Given the description of an element on the screen output the (x, y) to click on. 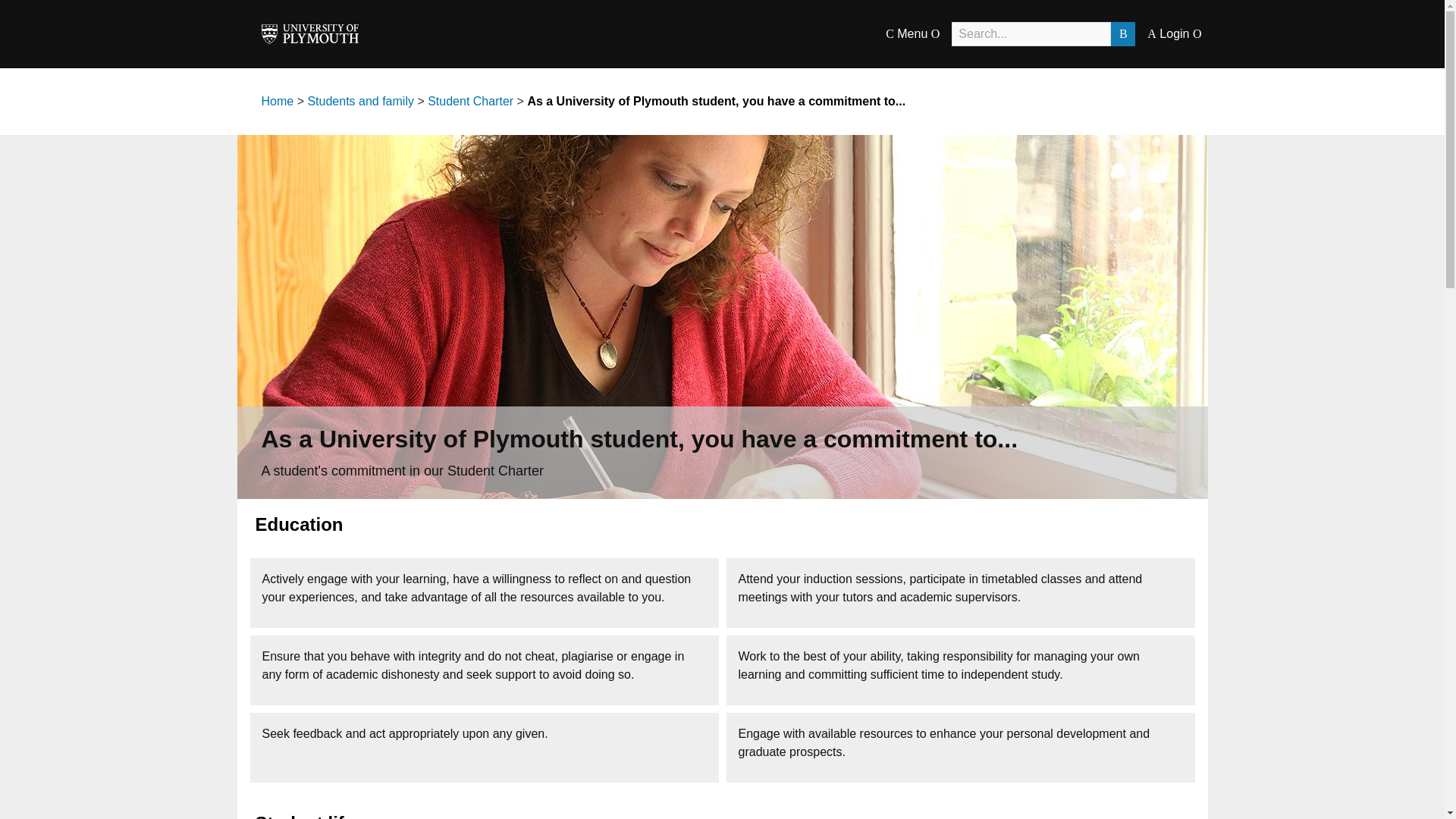
C Menu O (911, 33)
B (1122, 33)
A Login O (1174, 33)
